Given the description of an element on the screen output the (x, y) to click on. 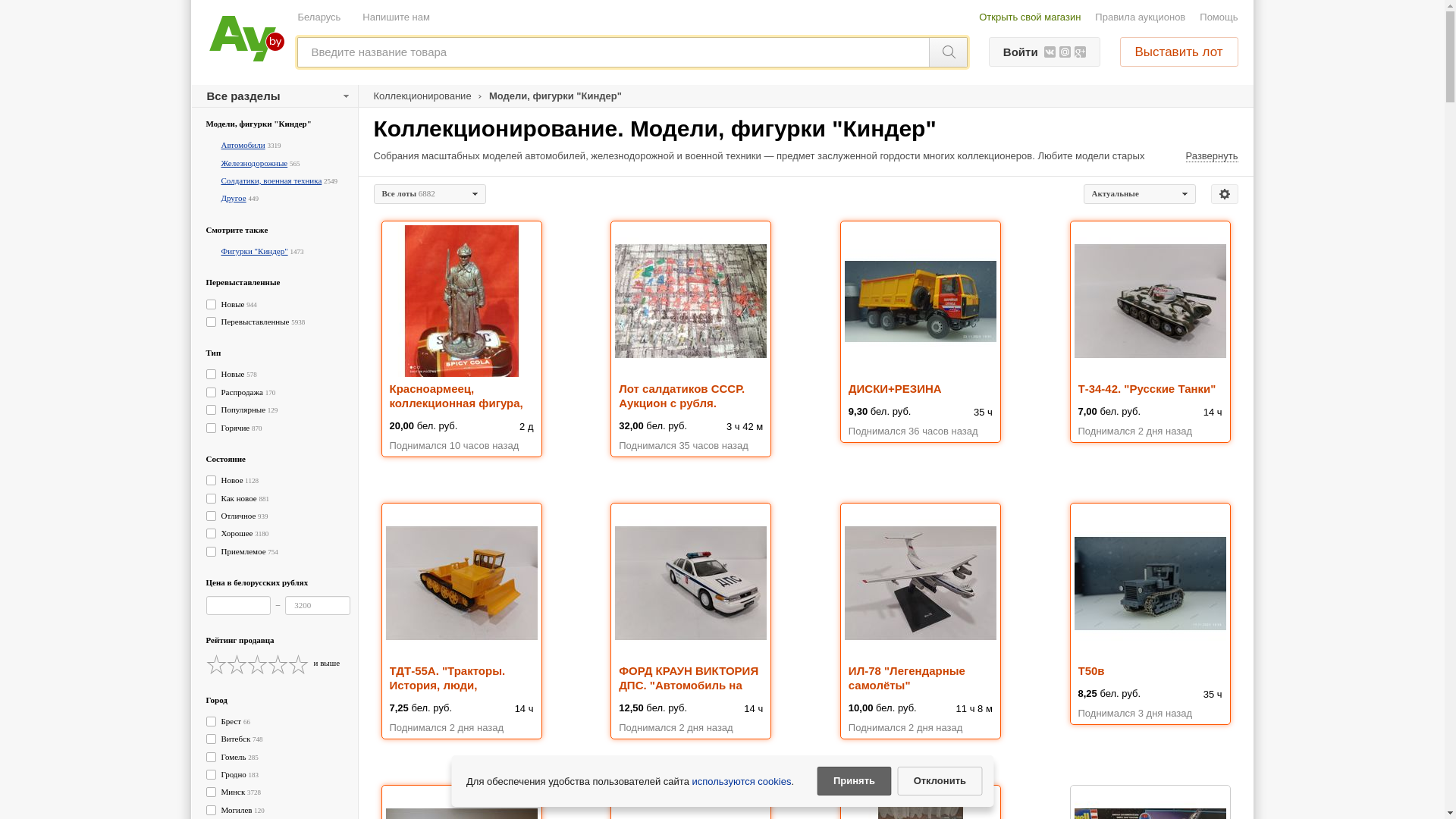
pp Element type: text (721, 291)
login Element type: text (721, 172)
